Given the description of an element on the screen output the (x, y) to click on. 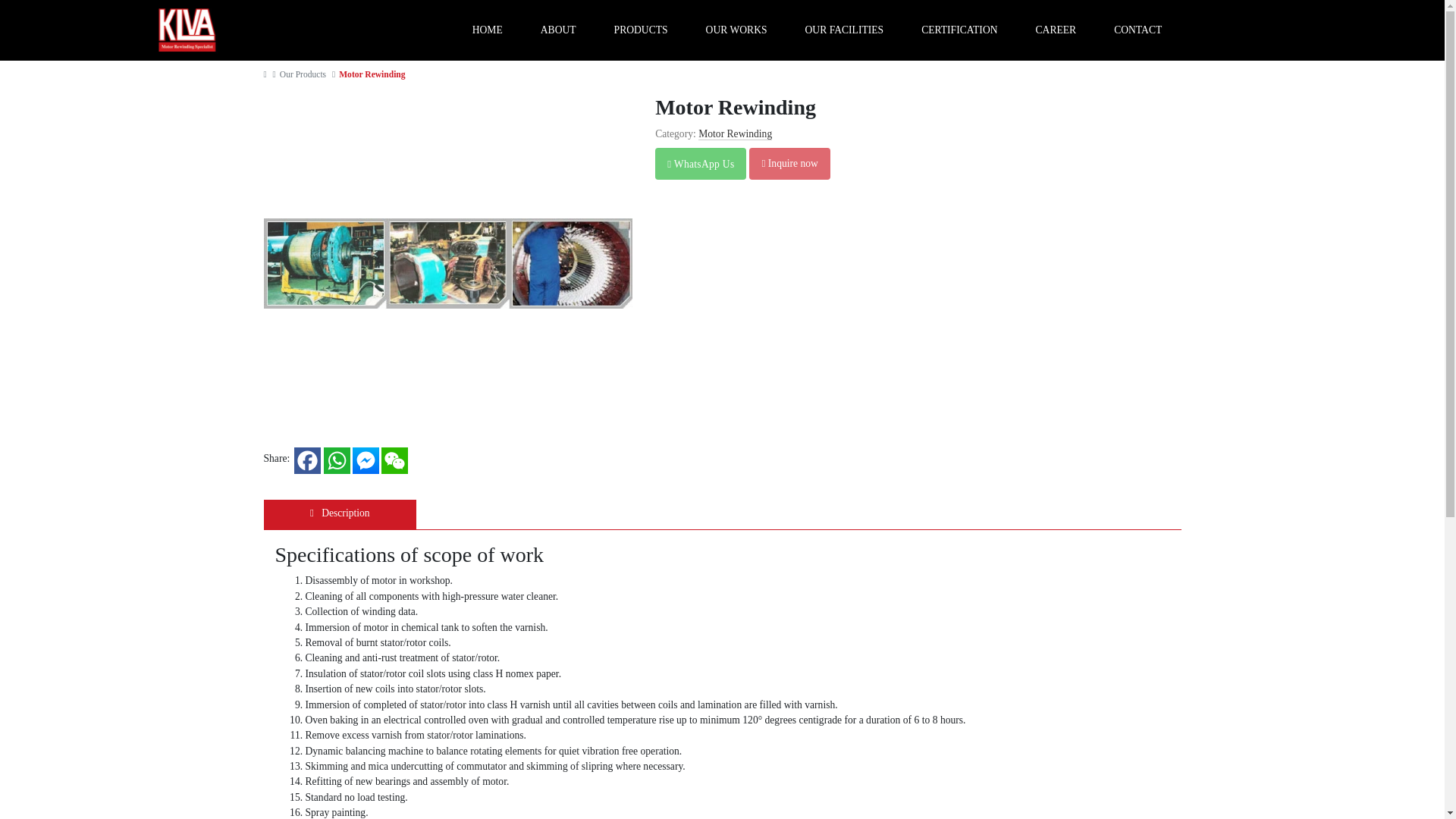
Motor Rewinding (371, 74)
OUR WORKS (736, 29)
Home (486, 29)
CERTIFICATION (959, 29)
CONTACT (1137, 29)
WhatsApp Us (700, 163)
Motor Rewinding (734, 133)
Certification (959, 29)
Our Works (736, 29)
CAREER (1056, 29)
OUR FACILITIES (844, 29)
Products (641, 29)
Our Products (304, 74)
Inquire now (789, 163)
Our Facilities (844, 29)
